Given the description of an element on the screen output the (x, y) to click on. 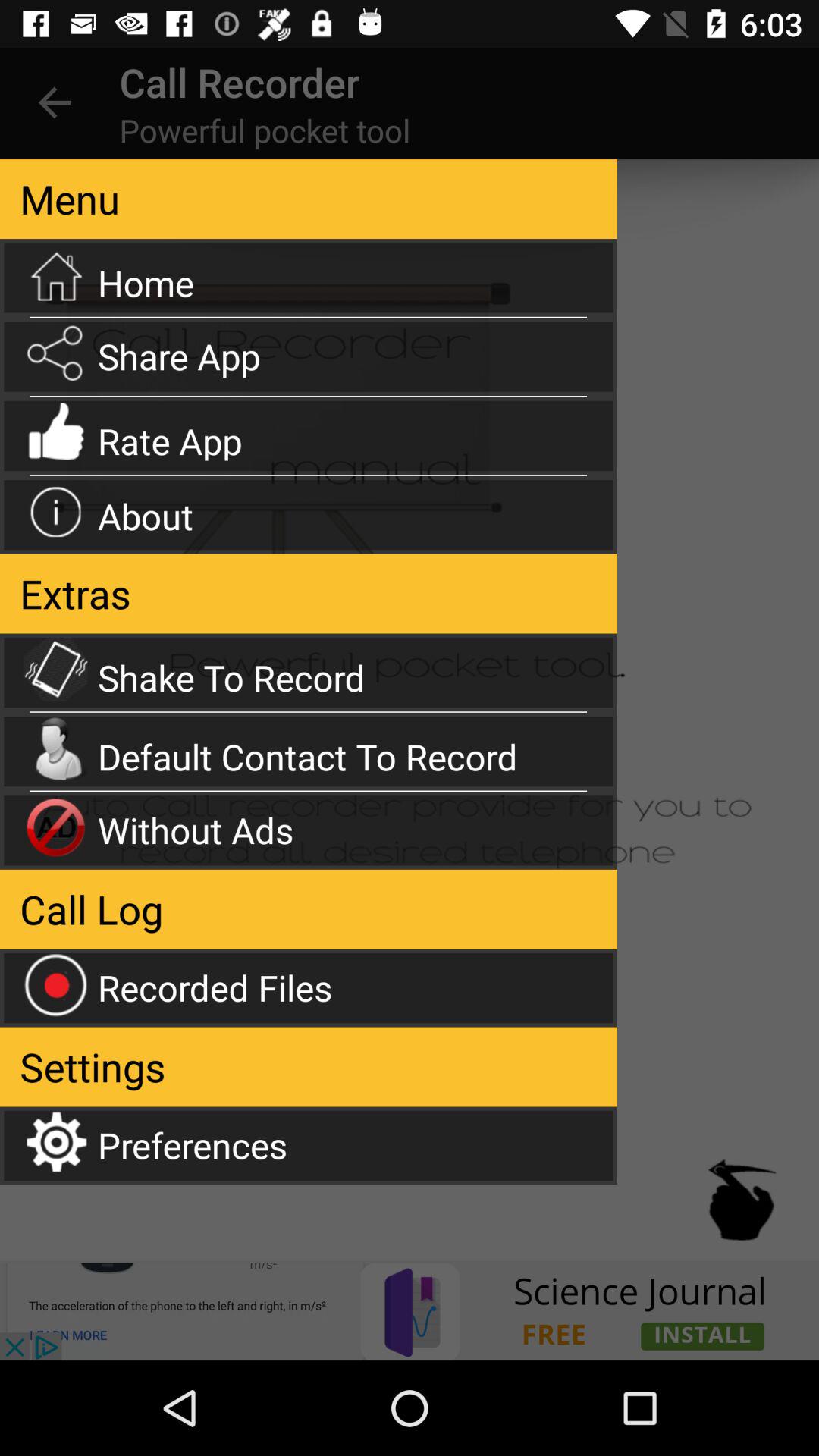
advertisement banner (409, 1310)
